Given the description of an element on the screen output the (x, y) to click on. 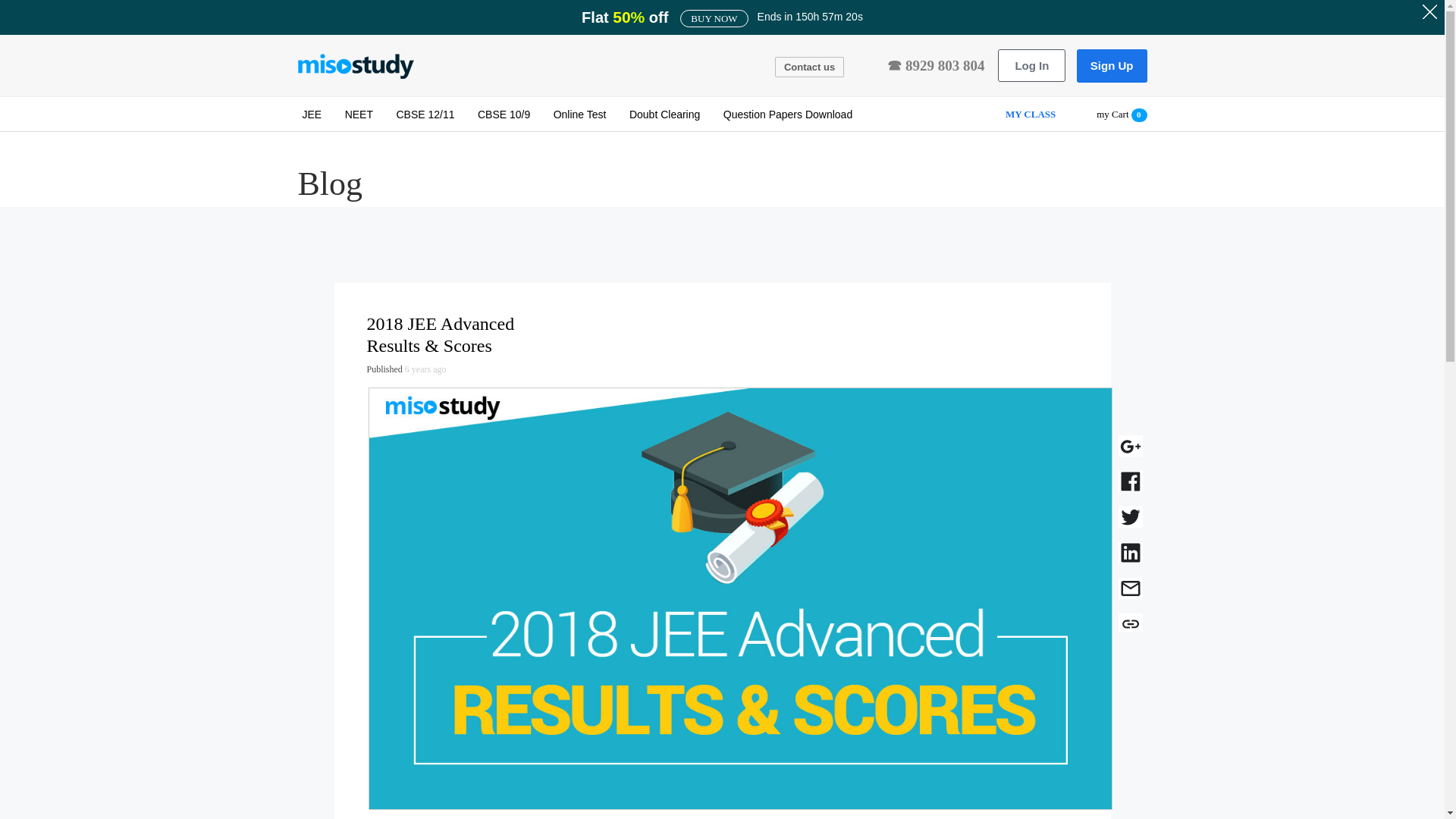
JEE (311, 114)
Question Papers Download (788, 114)
Contact us (809, 66)
Doubt Clearing (664, 114)
NEET (358, 114)
Sign Up (1112, 65)
Online Test (579, 114)
Log In (1031, 65)
